Given the description of an element on the screen output the (x, y) to click on. 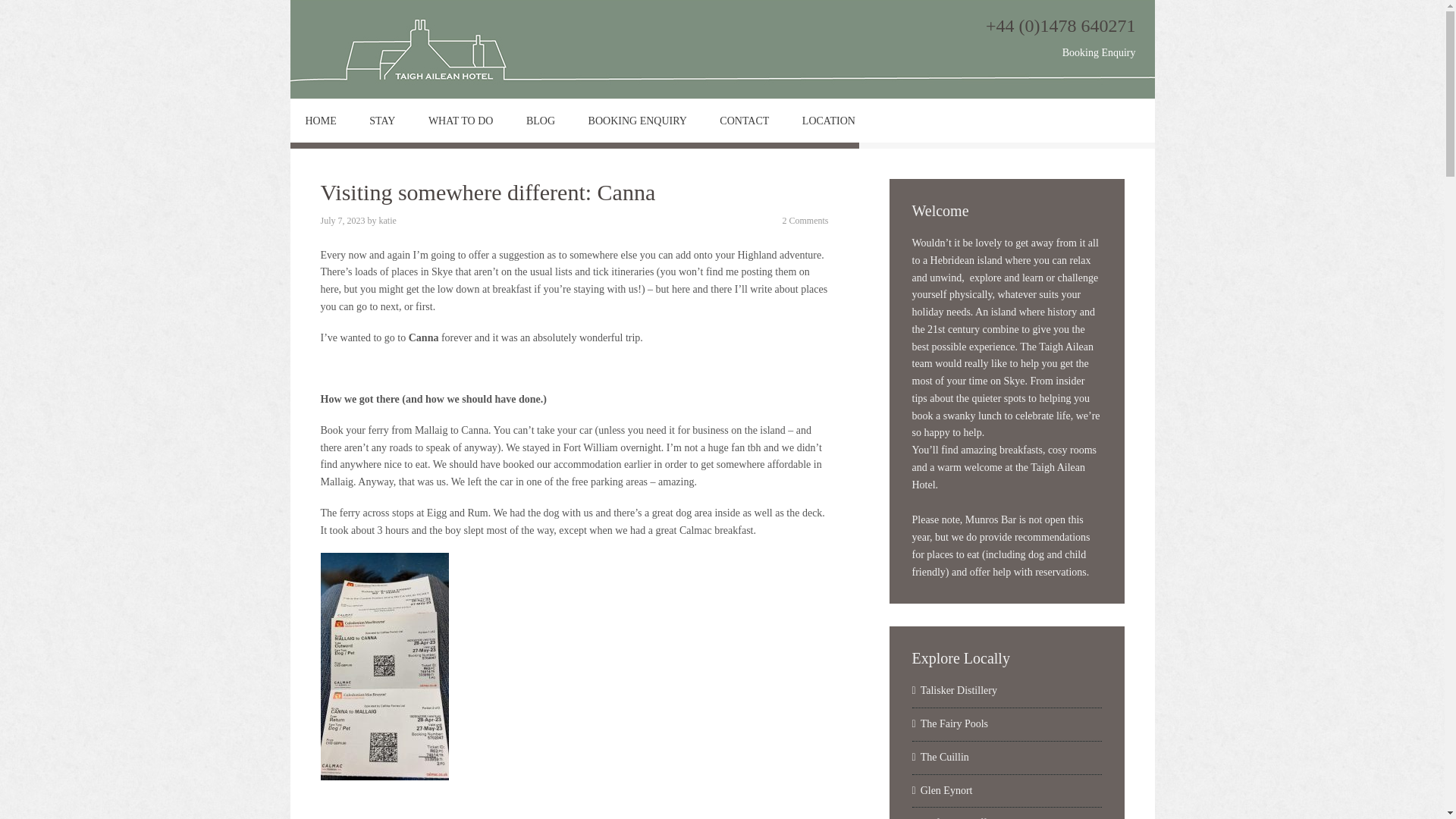
TAIGH AILEAN HOTEL (429, 49)
LOCATION (828, 120)
Visiting somewhere different: Canna (487, 191)
BLOG (540, 120)
Booking Enquiry (1098, 52)
Booking Enquiry (1098, 52)
WHAT TO DO (460, 120)
BOOKING ENQUIRY (637, 120)
2 Comments (804, 220)
katie (387, 220)
HOME (319, 120)
CONTACT (744, 120)
STAY (381, 120)
